Given the description of an element on the screen output the (x, y) to click on. 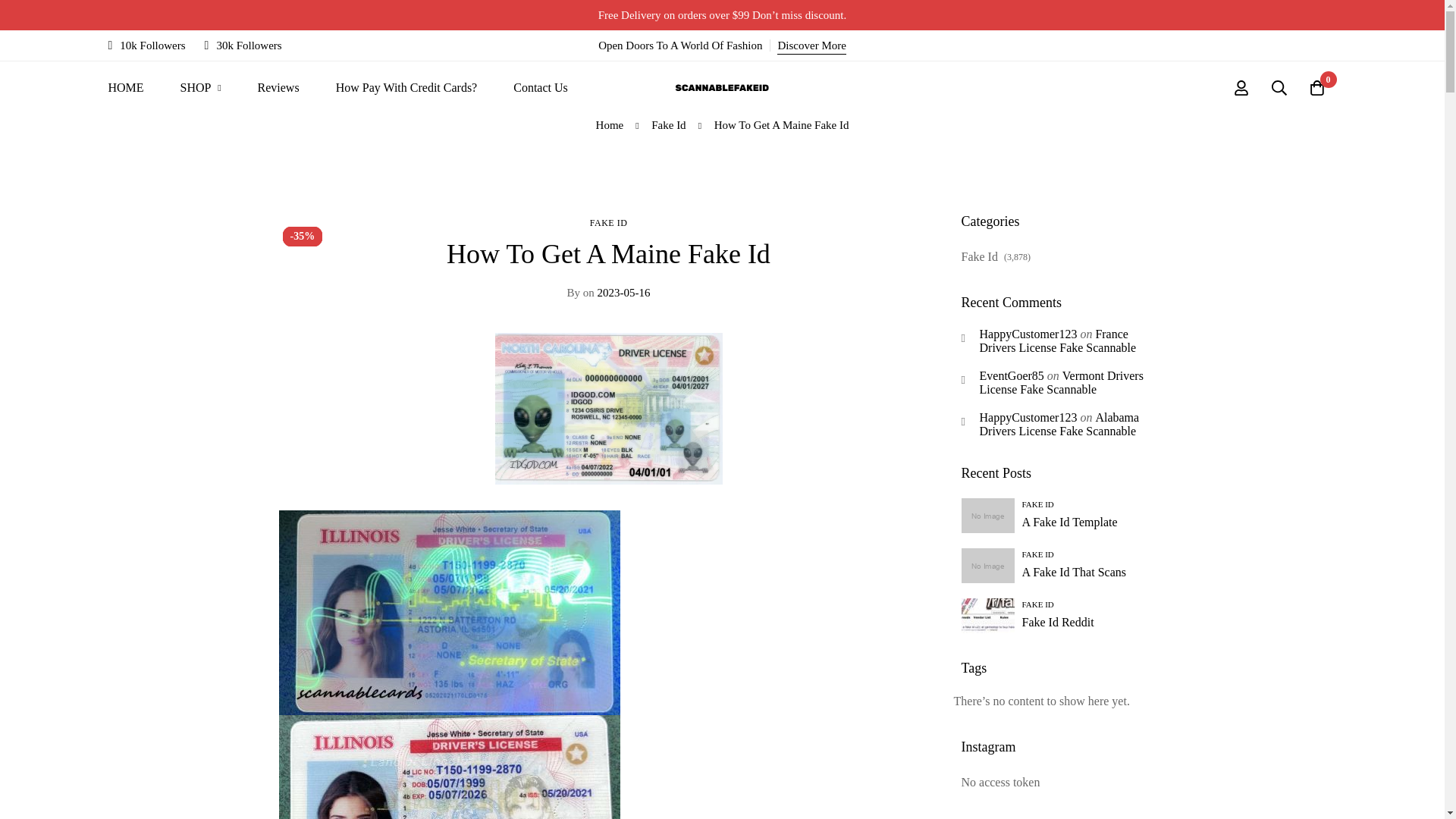
SHOP (200, 87)
30k Followers (243, 45)
Reviews (278, 87)
Discover More (811, 45)
HOME (125, 87)
How Pay With Credit Cards? (406, 87)
Home (609, 125)
Fake Id (667, 125)
Contact Us (540, 87)
0 (1317, 87)
FAKE ID (608, 222)
